Given the description of an element on the screen output the (x, y) to click on. 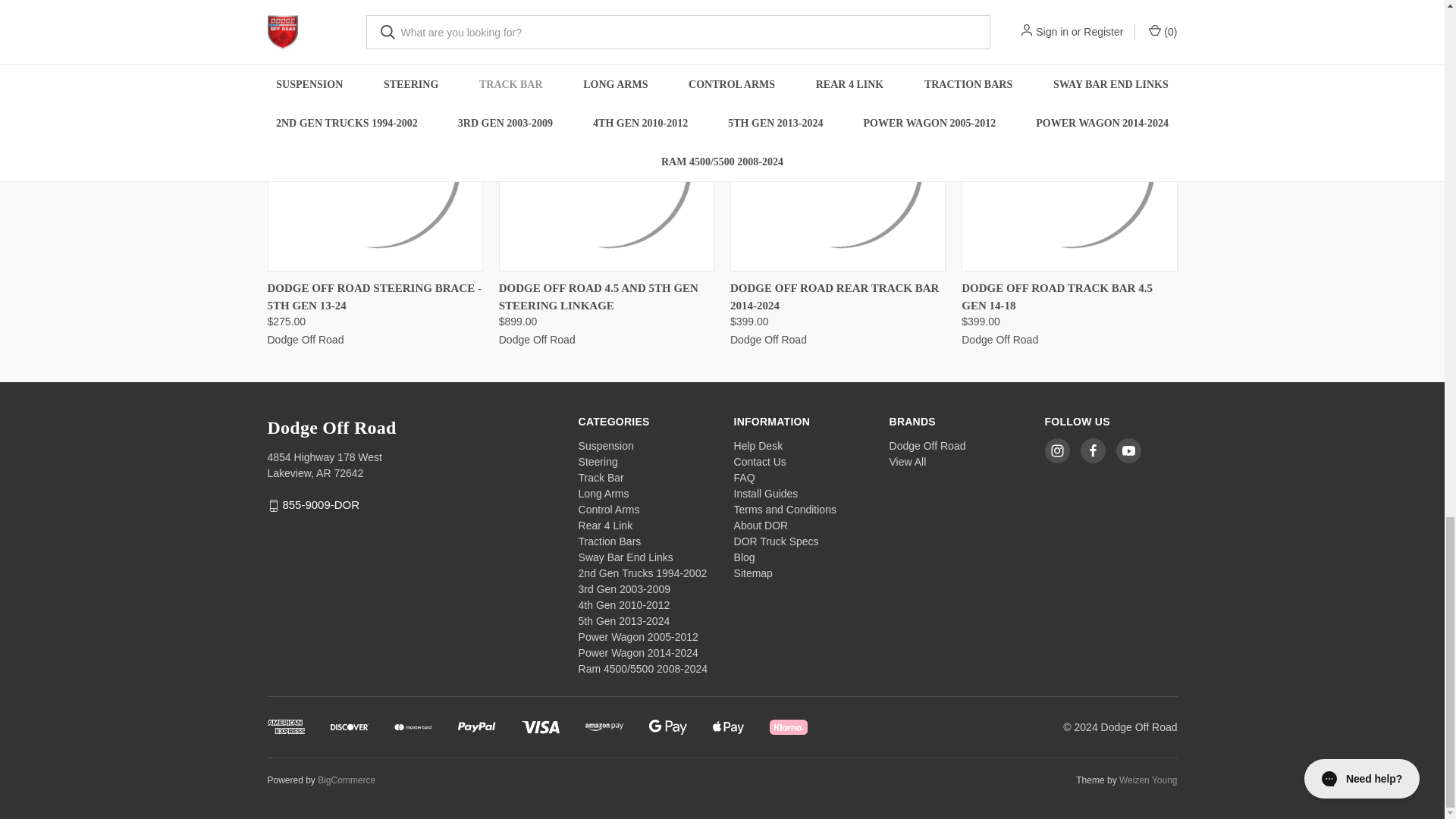
Dodge Off Road Track Bar 4.5 Gen 14-18 (1068, 163)
Fits 2014 and up Ram 2500 4x4 (837, 163)
